Given the description of an element on the screen output the (x, y) to click on. 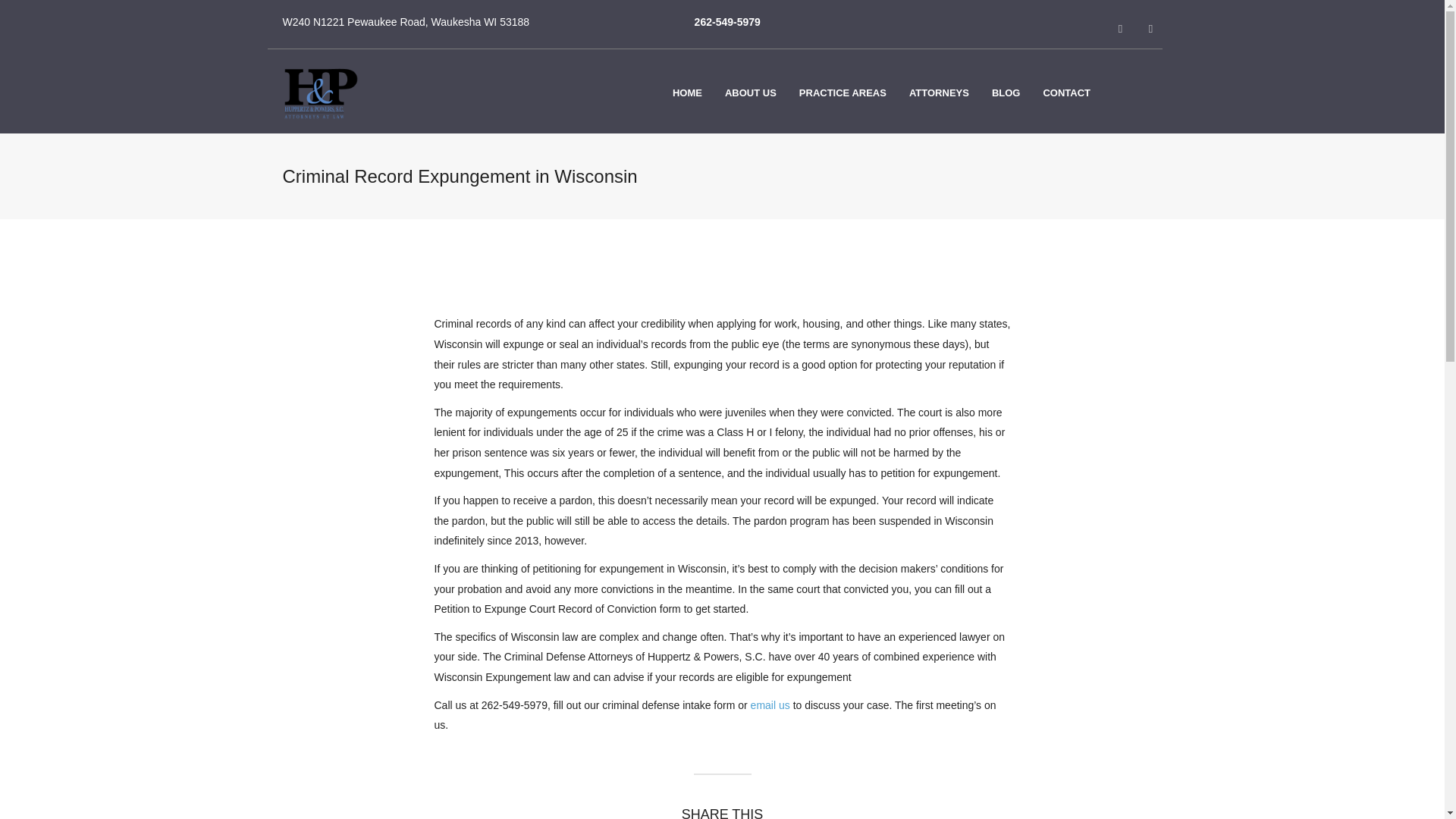
ABOUT US (750, 93)
PRACTICE AREAS (842, 93)
Huppertz-Powers-Logo-Web-1 (320, 93)
email us (770, 705)
HOME (687, 93)
ATTORNEYS (938, 93)
BLOG (1005, 93)
CONTACT (1066, 93)
